Given the description of an element on the screen output the (x, y) to click on. 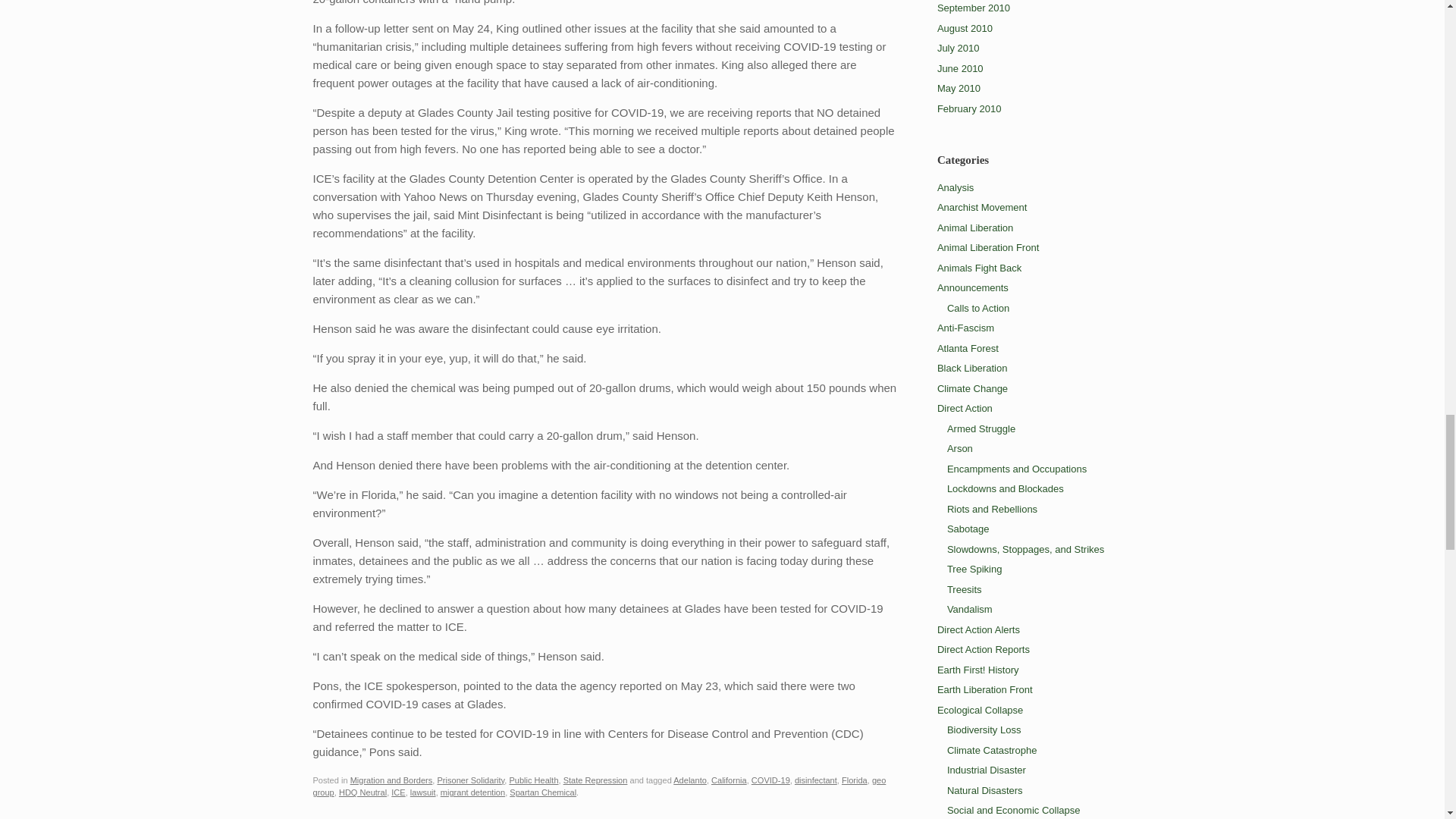
Public Health (532, 779)
Adelanto (689, 779)
State Repression (595, 779)
California (728, 779)
geo group (599, 786)
COVID-19 (770, 779)
Migration and Borders (391, 779)
Prisoner Solidarity (469, 779)
disinfectant (815, 779)
Florida (854, 779)
